Given the description of an element on the screen output the (x, y) to click on. 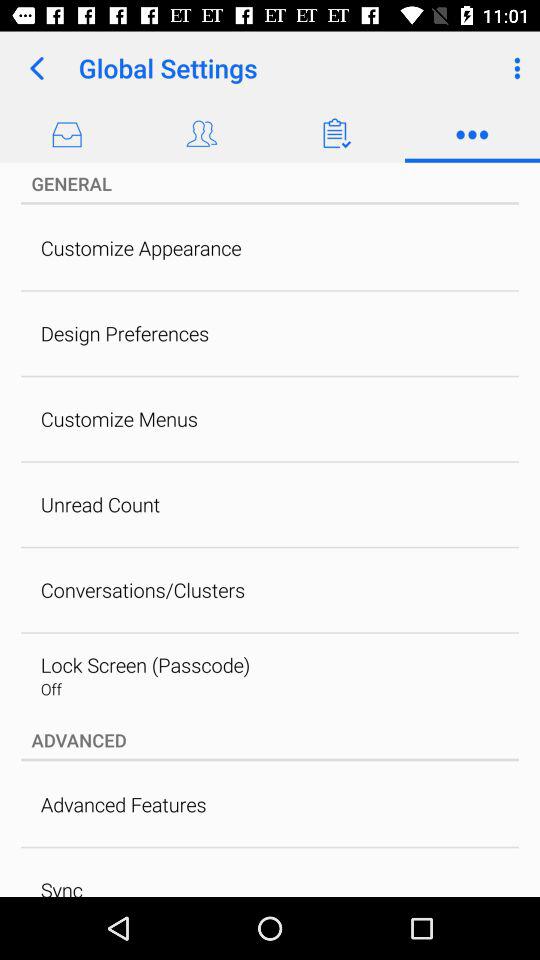
press item below general icon (140, 247)
